Given the description of an element on the screen output the (x, y) to click on. 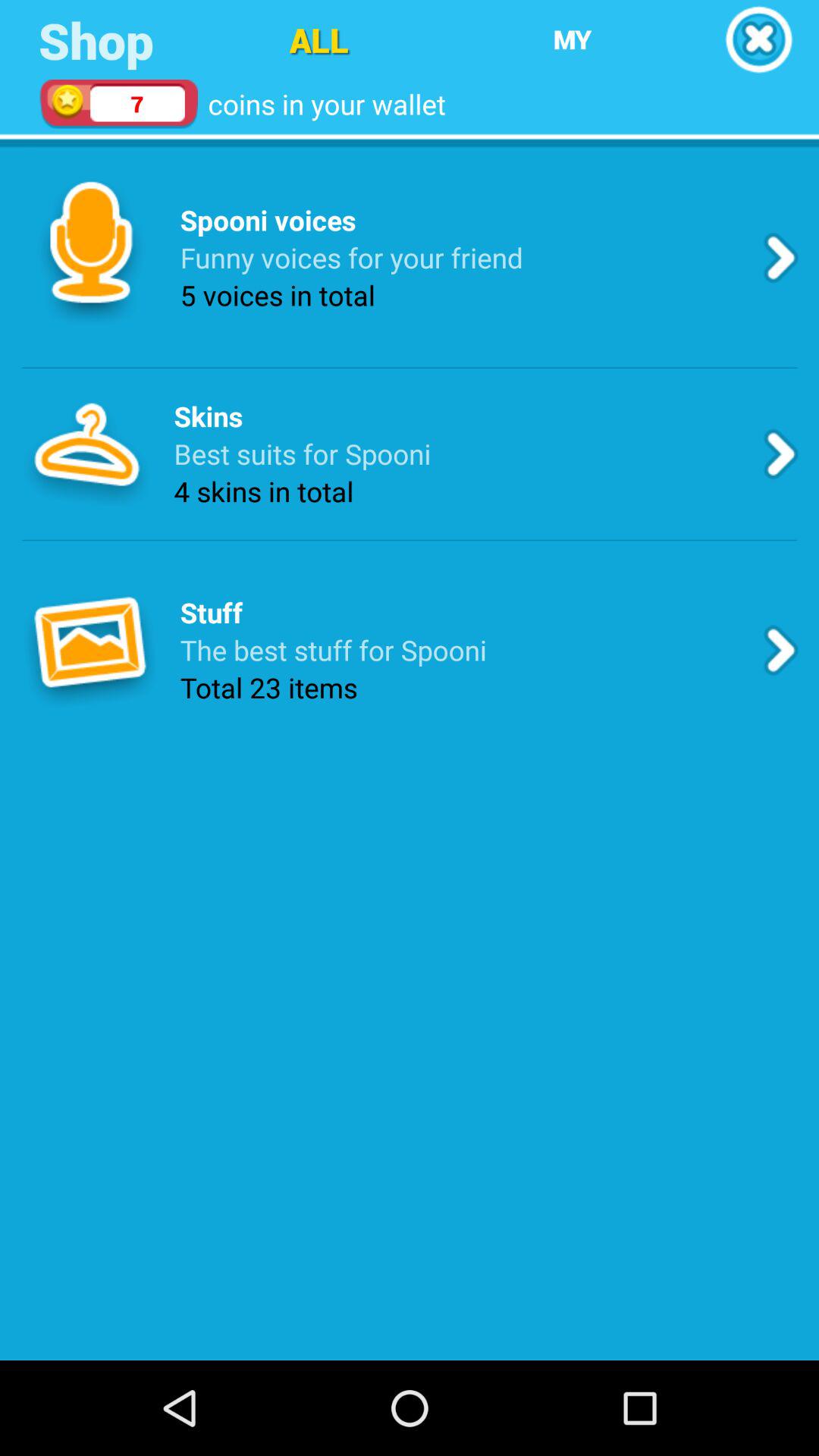
showx exit option (758, 39)
